Given the description of an element on the screen output the (x, y) to click on. 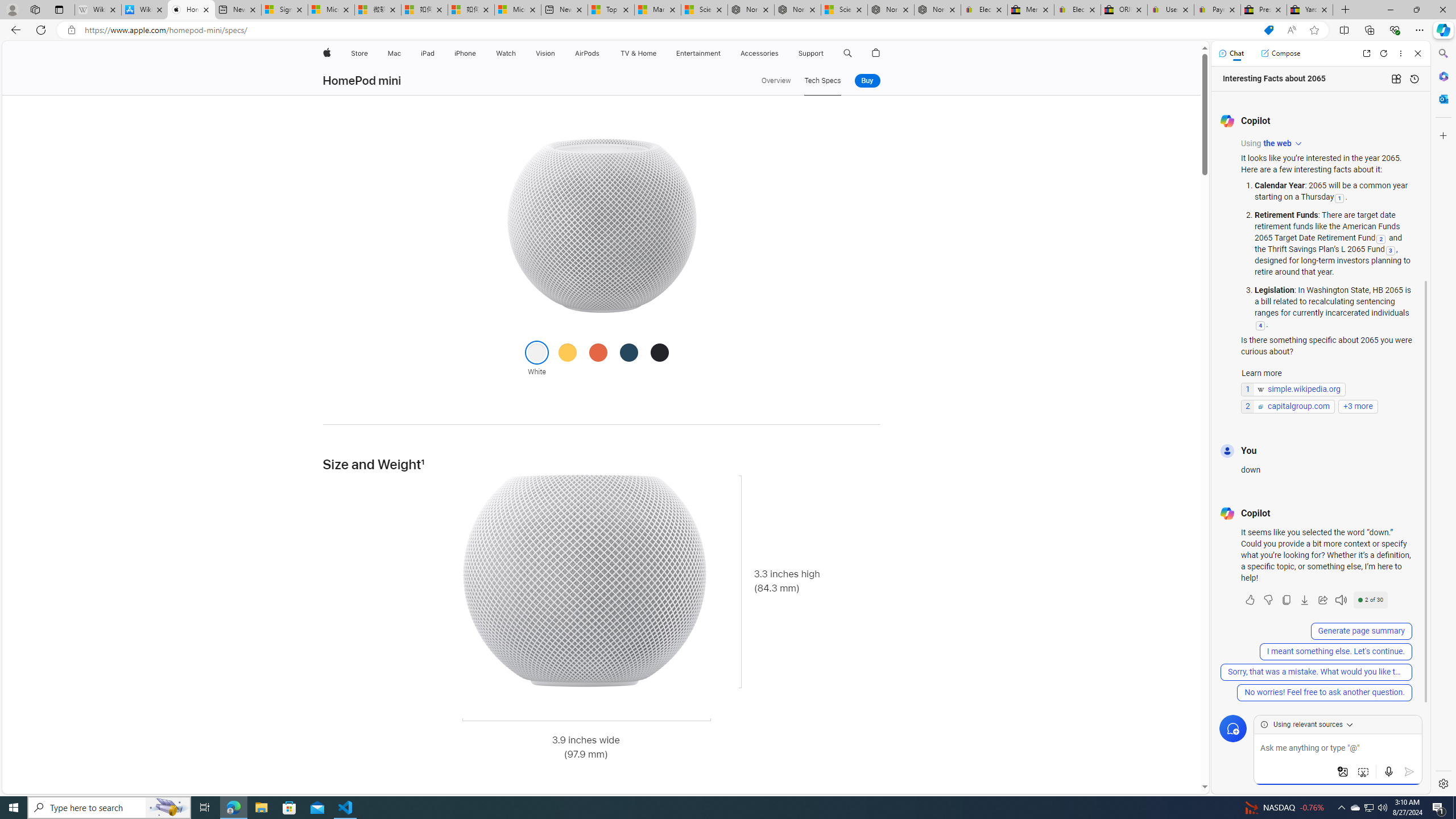
Shopping Bag (876, 53)
Class: globalnav-item globalnav-search shift-0-1 (847, 53)
Entertainment menu (722, 53)
Store (359, 53)
Support (810, 53)
White HomePod mini (600, 225)
Overview (775, 80)
iPad (427, 53)
